Given the description of an element on the screen output the (x, y) to click on. 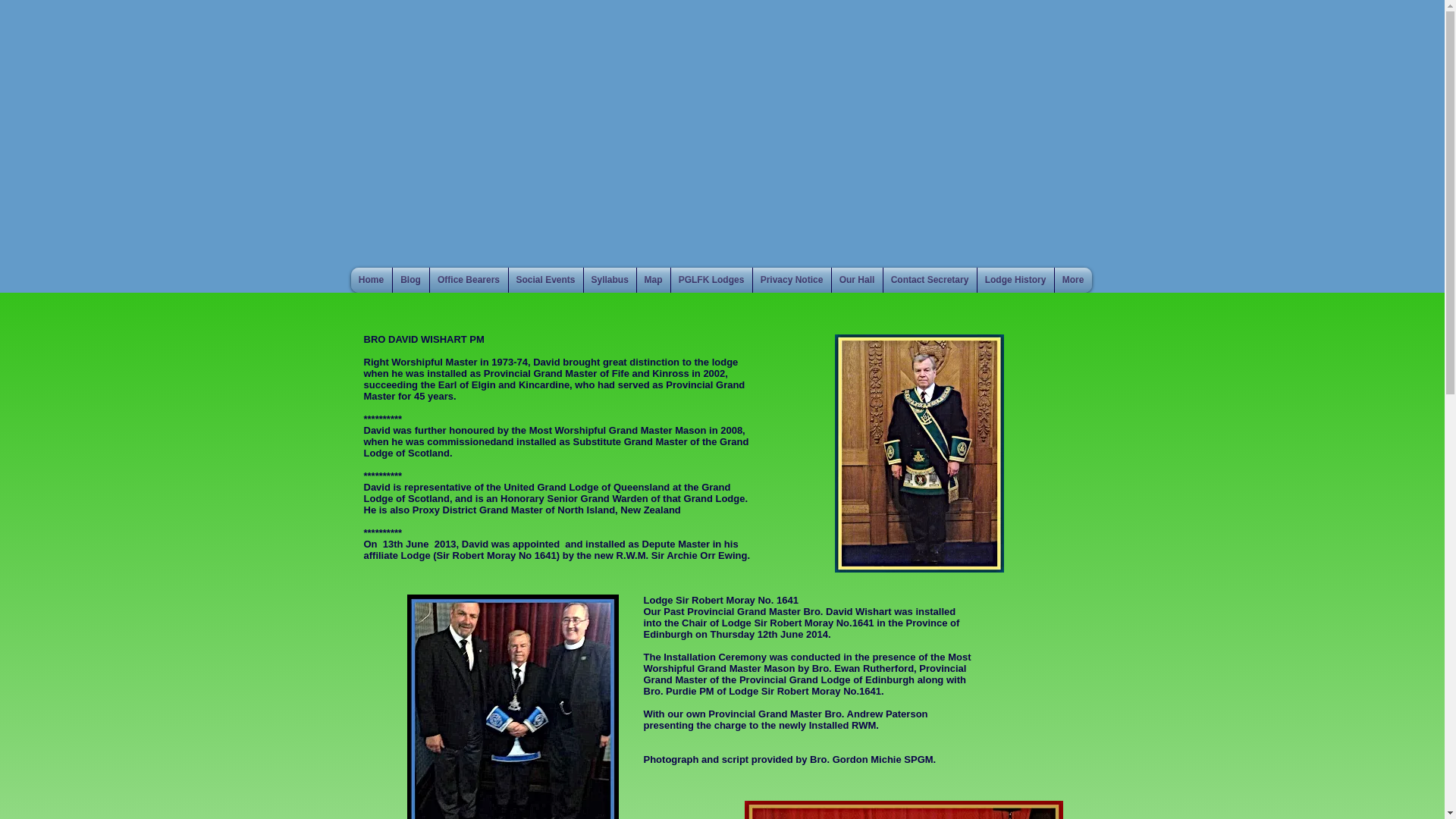
Office Bearers (467, 279)
Contact Secretary (928, 279)
Our Hall (856, 279)
Map (653, 279)
Social Events (545, 279)
2-image0.jpg (903, 809)
Home (370, 279)
Lodge History (1014, 279)
PGLFK Lodges (710, 279)
Syllabus (609, 279)
